Given the description of an element on the screen output the (x, y) to click on. 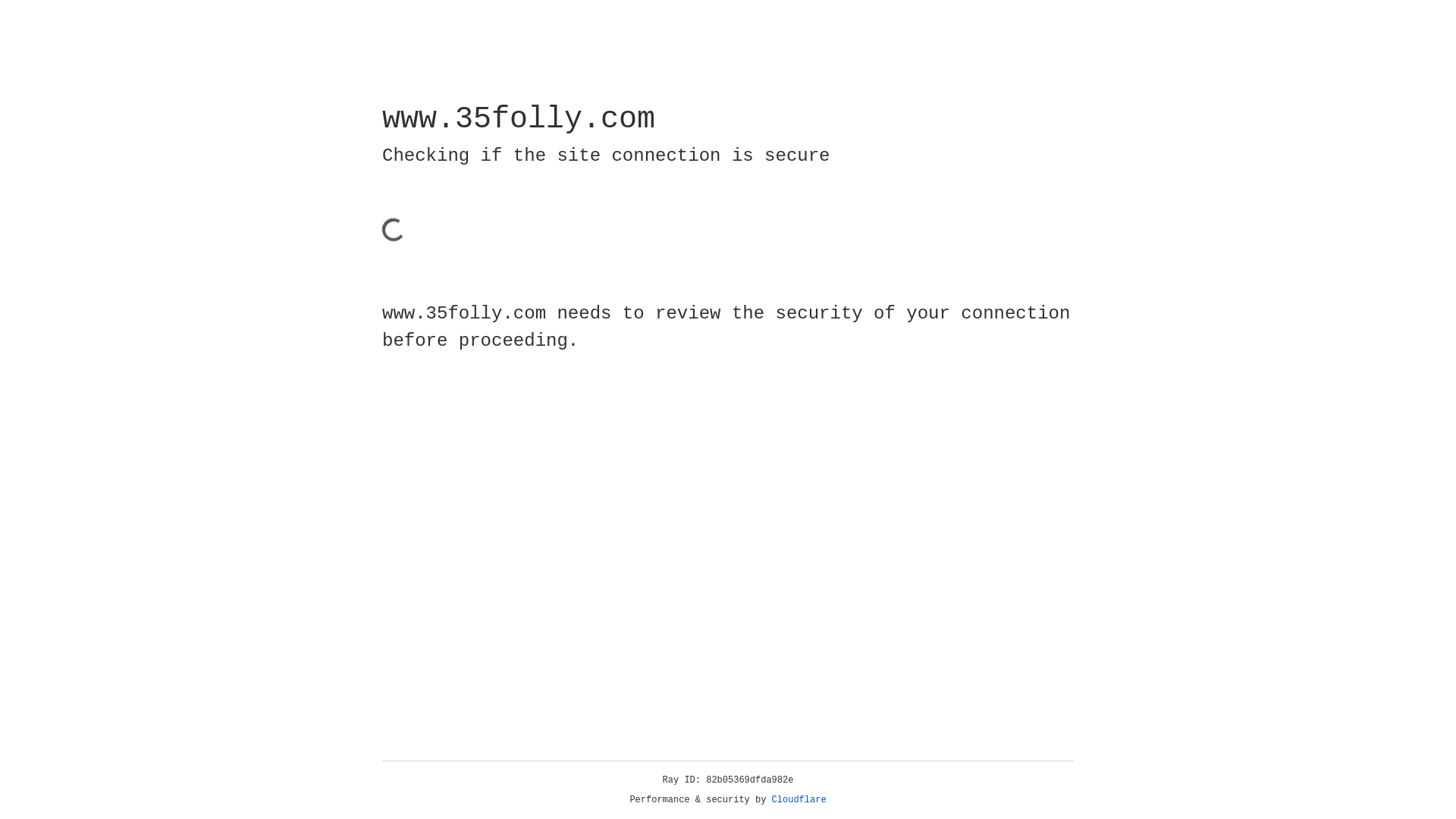
Cloudflare Element type: text (798, 799)
